Given the description of an element on the screen output the (x, y) to click on. 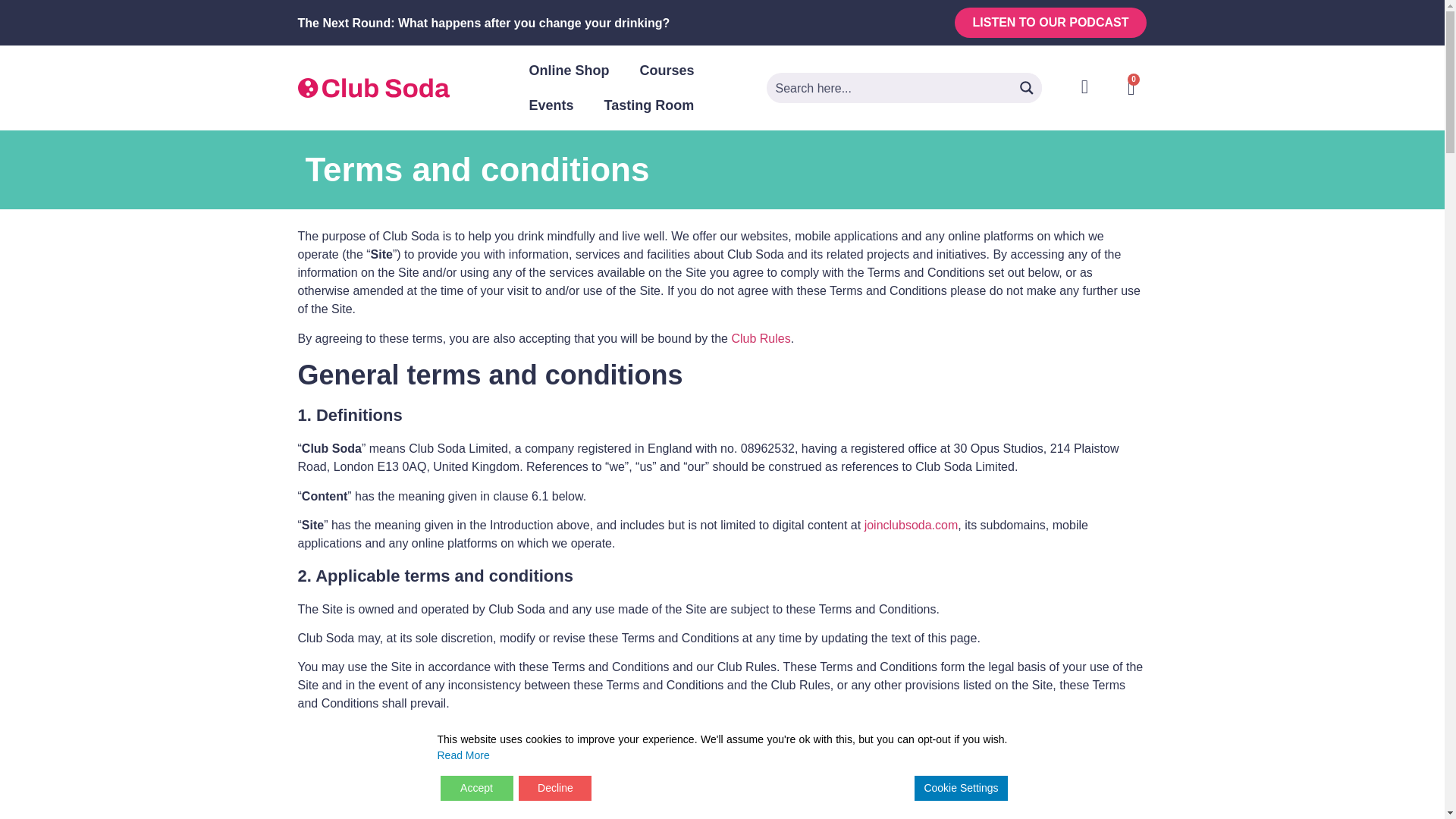
joinclubsoda.com (911, 524)
Events (551, 104)
Club Rules (760, 338)
0 (1131, 88)
Courses (667, 70)
Tasting Room (649, 104)
LISTEN TO OUR PODCAST (1051, 22)
Online Shop (568, 70)
